Given the description of an element on the screen output the (x, y) to click on. 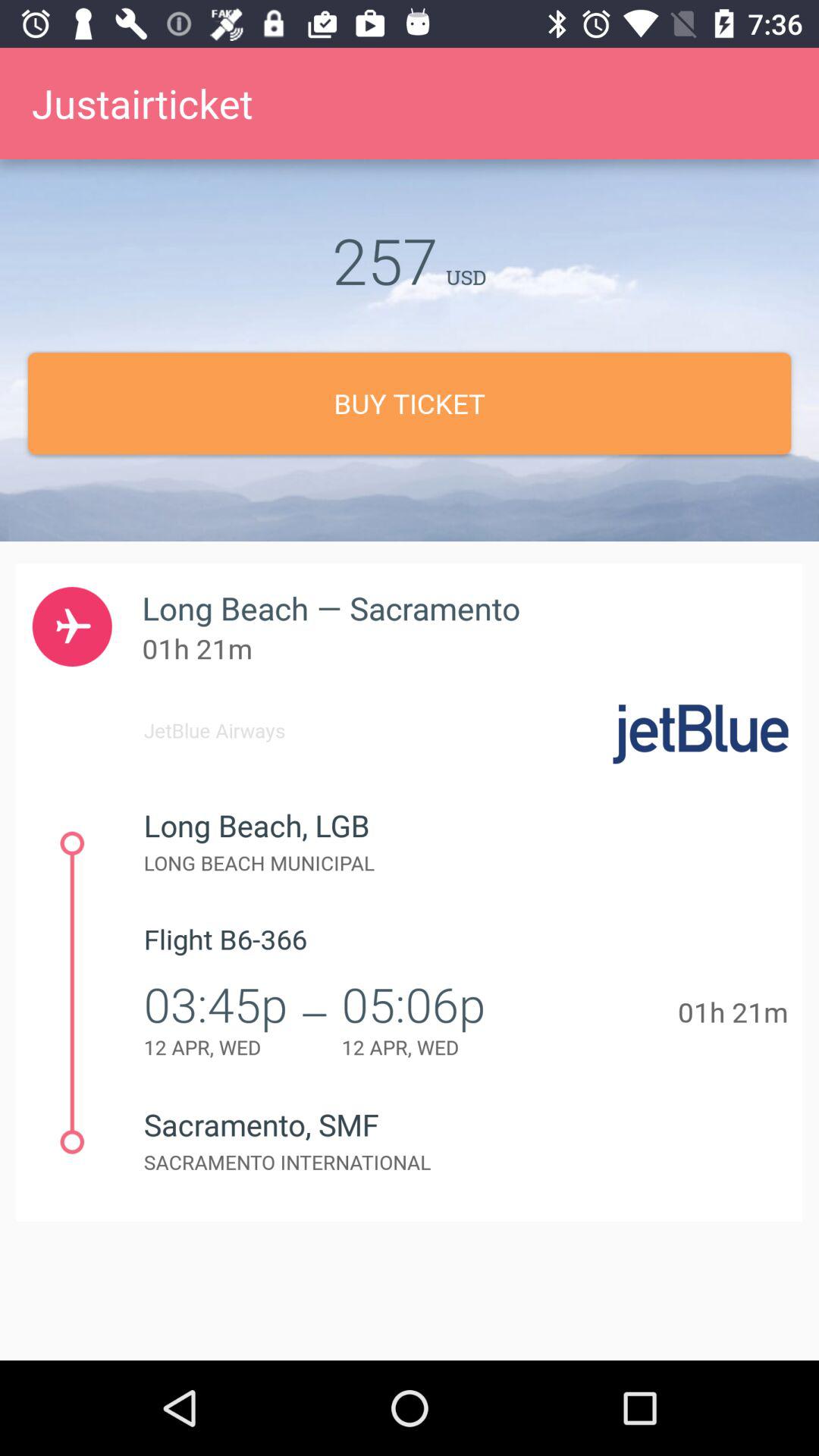
choose the buy ticket (409, 403)
